Given the description of an element on the screen output the (x, y) to click on. 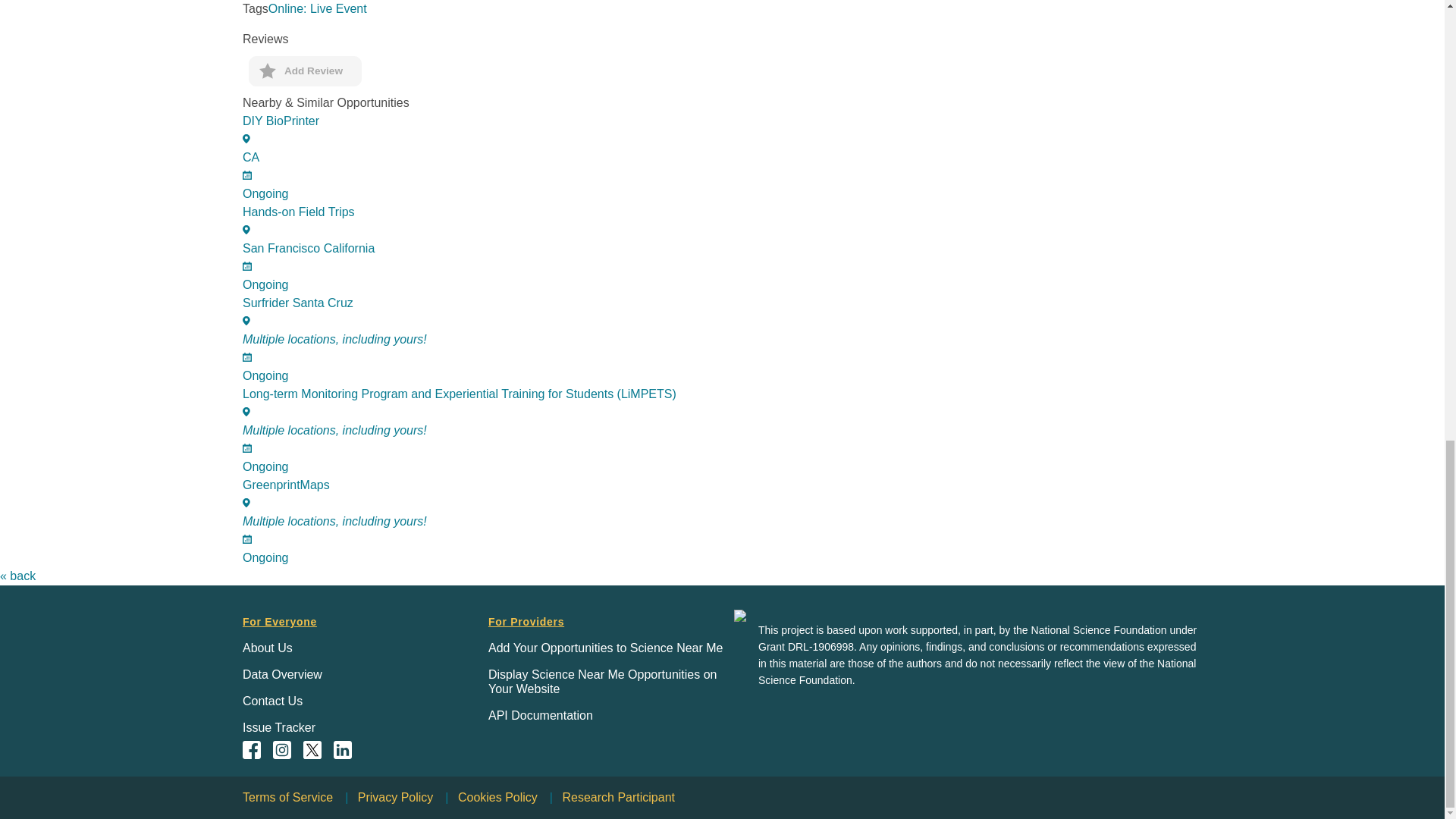
Data Overview (282, 674)
Online: Live Event (316, 9)
Add Review (727, 157)
Contact Us (304, 71)
About Us (272, 700)
